Given the description of an element on the screen output the (x, y) to click on. 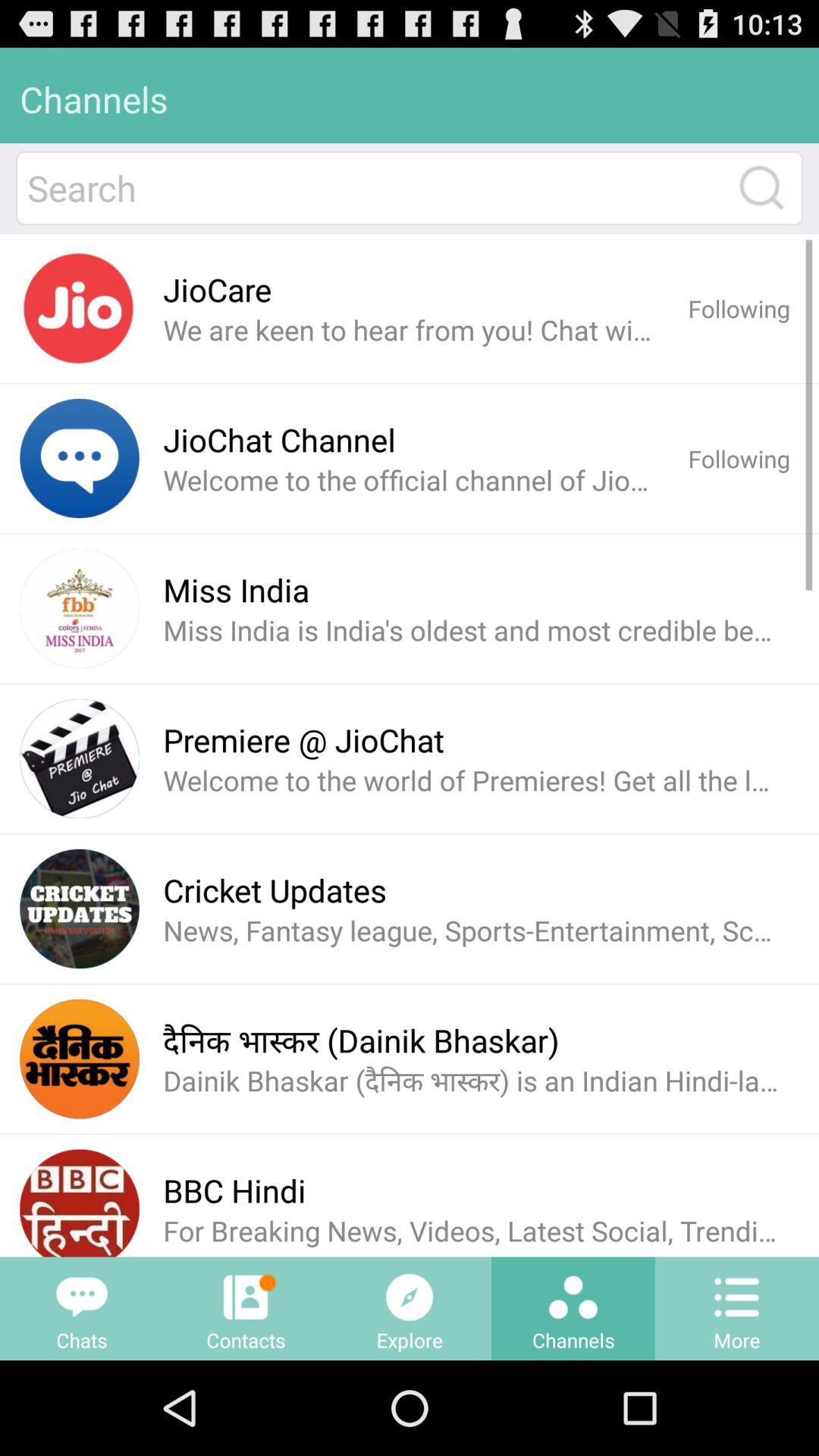
search channels (761, 187)
